Given the description of an element on the screen output the (x, y) to click on. 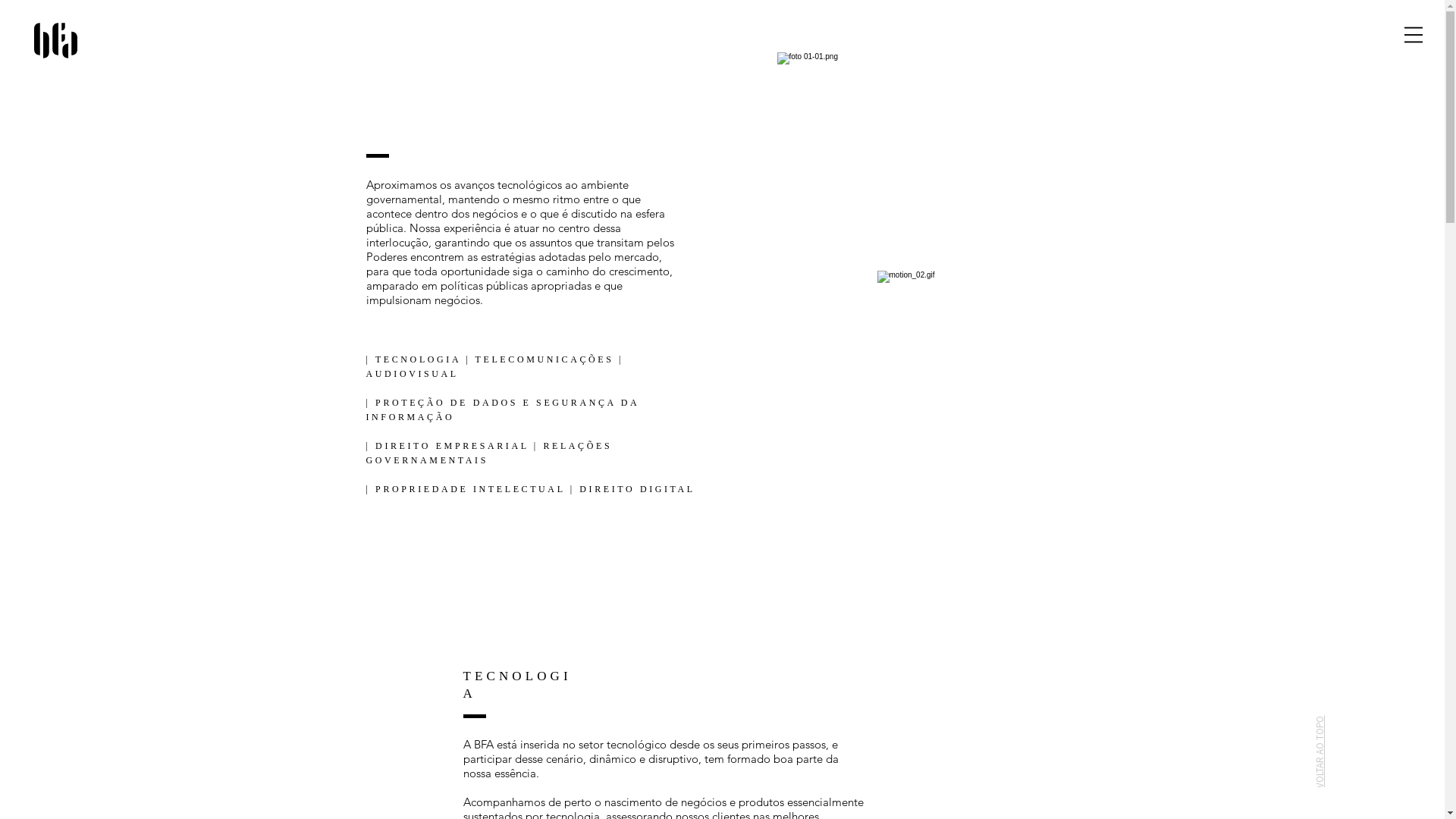
VOLTAR AO TOPO Element type: text (1360, 710)
PROPRIEDADE INTELECTUAL Element type: text (469, 488)
DIREITO EMPRESARIAL Element type: text (451, 445)
TECNOLOGIA Element type: text (418, 359)
AUDIOVISUAL Element type: text (411, 373)
DIREITO DIGITAL Element type: text (636, 488)
